Given the description of an element on the screen output the (x, y) to click on. 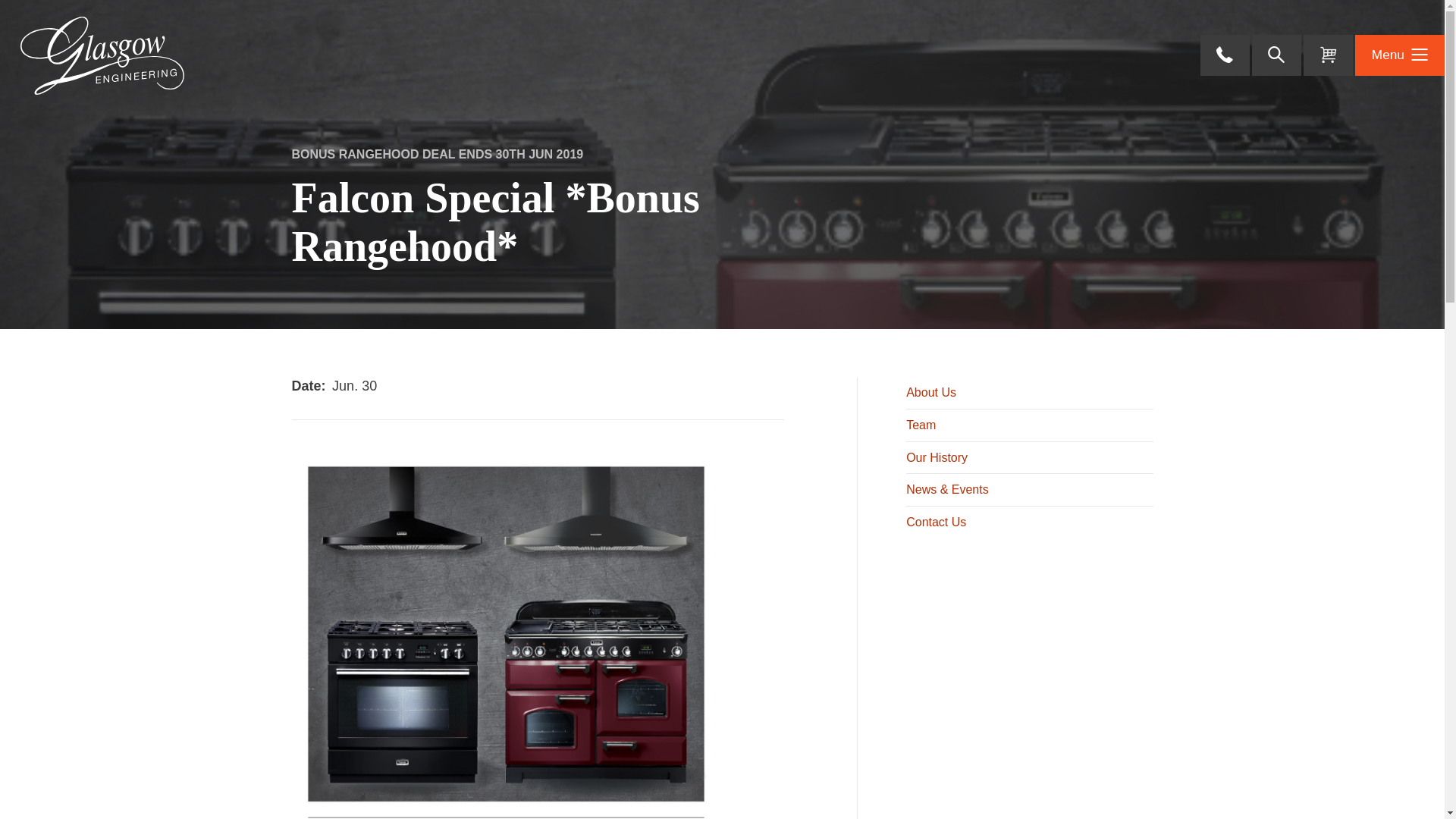
Call Us Element type: text (1224, 54)
About Us Element type: text (1029, 393)
Glasgow Engineering Element type: text (102, 54)
Our History Element type: text (1029, 457)
Your Cart Element type: text (1327, 54)
News & Events Element type: text (1029, 489)
Menu Element type: text (1399, 54)
Contact Us Element type: text (1029, 521)
Team Element type: text (1029, 424)
Show Search Element type: text (1276, 54)
